Given the description of an element on the screen output the (x, y) to click on. 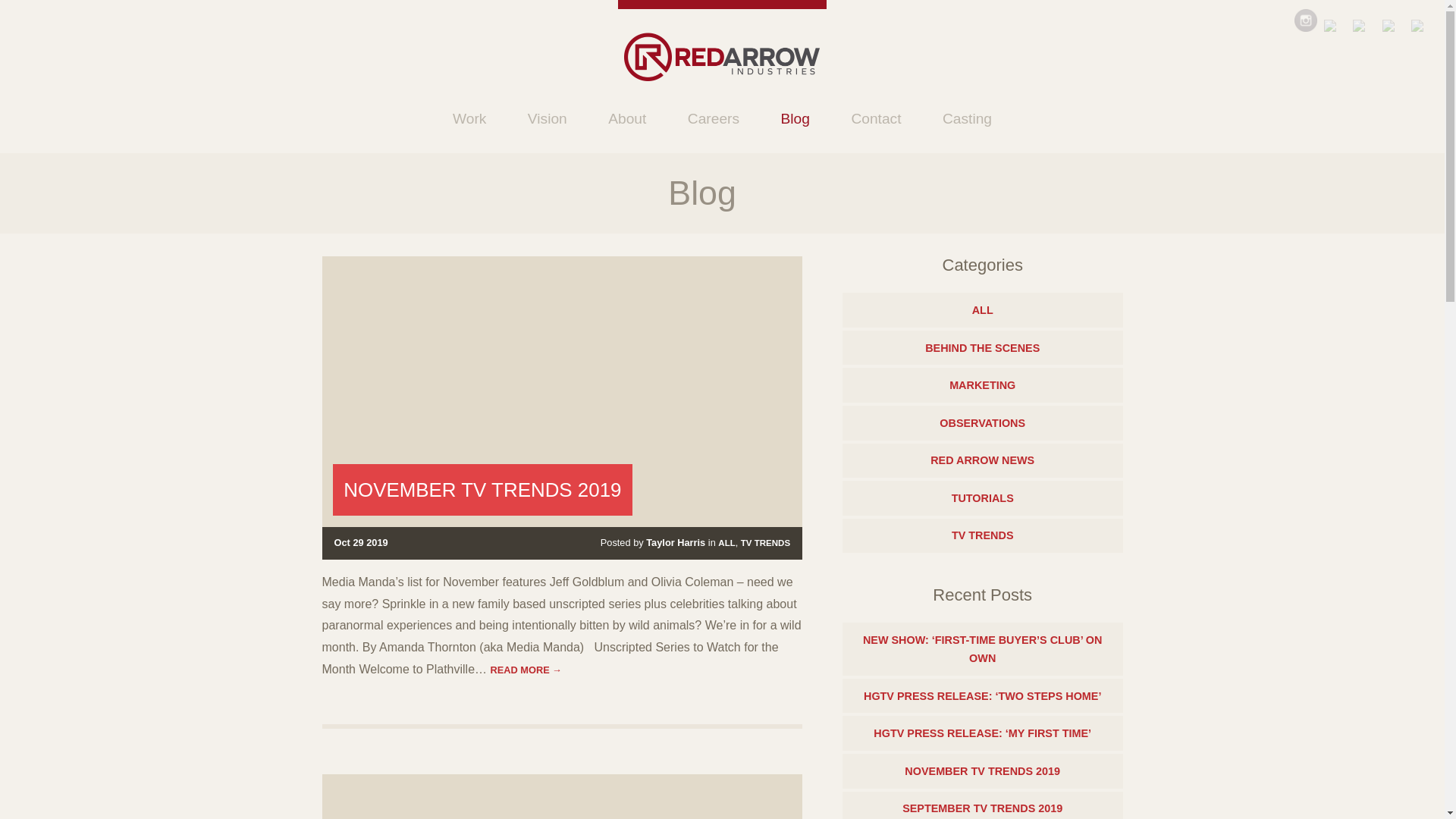
OBSERVATIONS (982, 422)
MARKETING (982, 384)
Blog (794, 118)
Work (469, 118)
Casting (966, 118)
NOVEMBER TV TRENDS 2019 (482, 489)
BEHIND THE SCENES (982, 347)
Careers (713, 118)
About (627, 118)
TV TRENDS (765, 542)
